Given the description of an element on the screen output the (x, y) to click on. 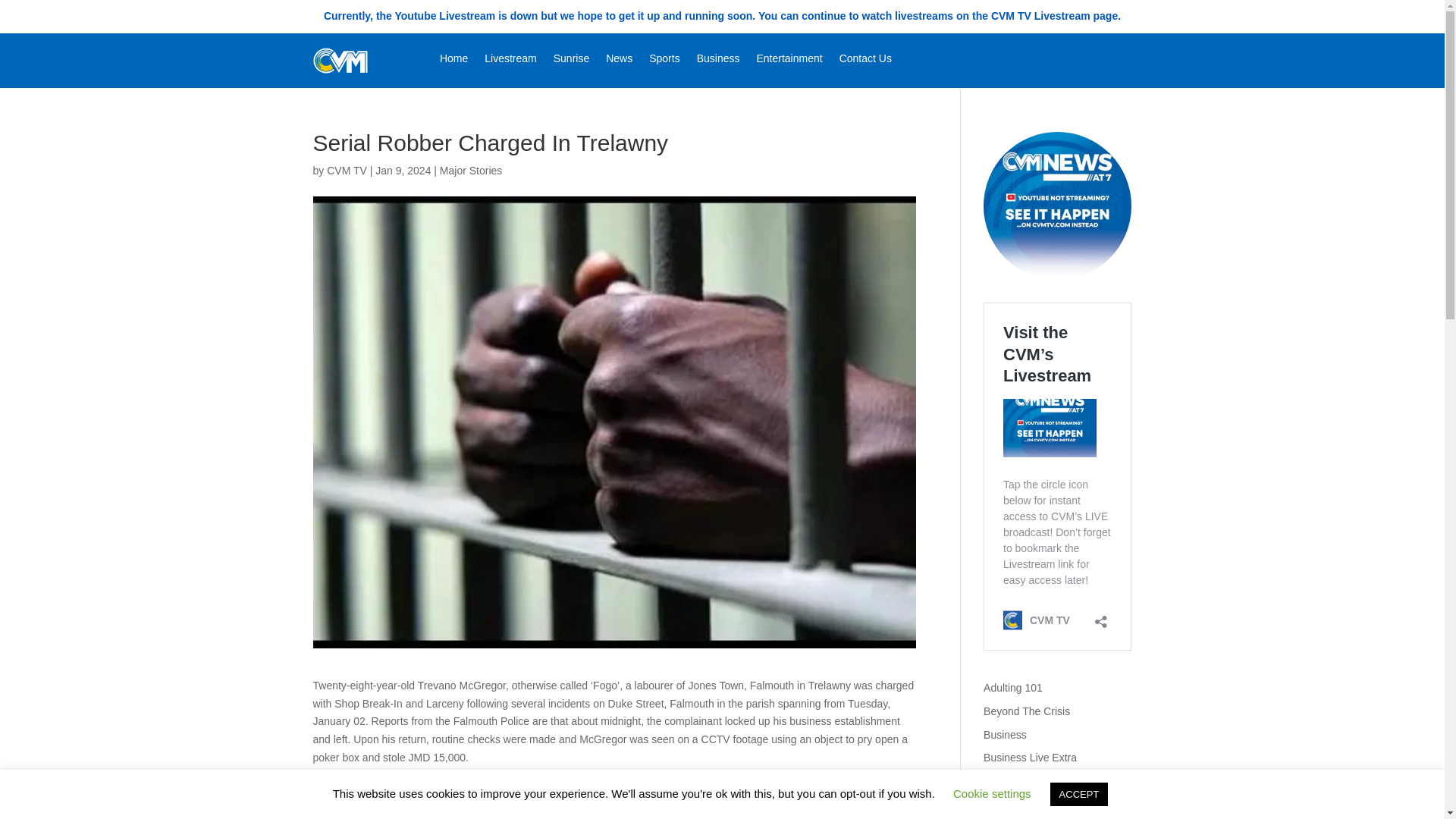
Business Live Extra (1030, 757)
Home (453, 61)
Sports (664, 61)
Adulting 101 (1013, 687)
Business (1005, 734)
Sunrise (571, 61)
News (618, 61)
Beyond The Crisis (1027, 711)
Major Stories (470, 170)
Contact Us (865, 61)
